Given the description of an element on the screen output the (x, y) to click on. 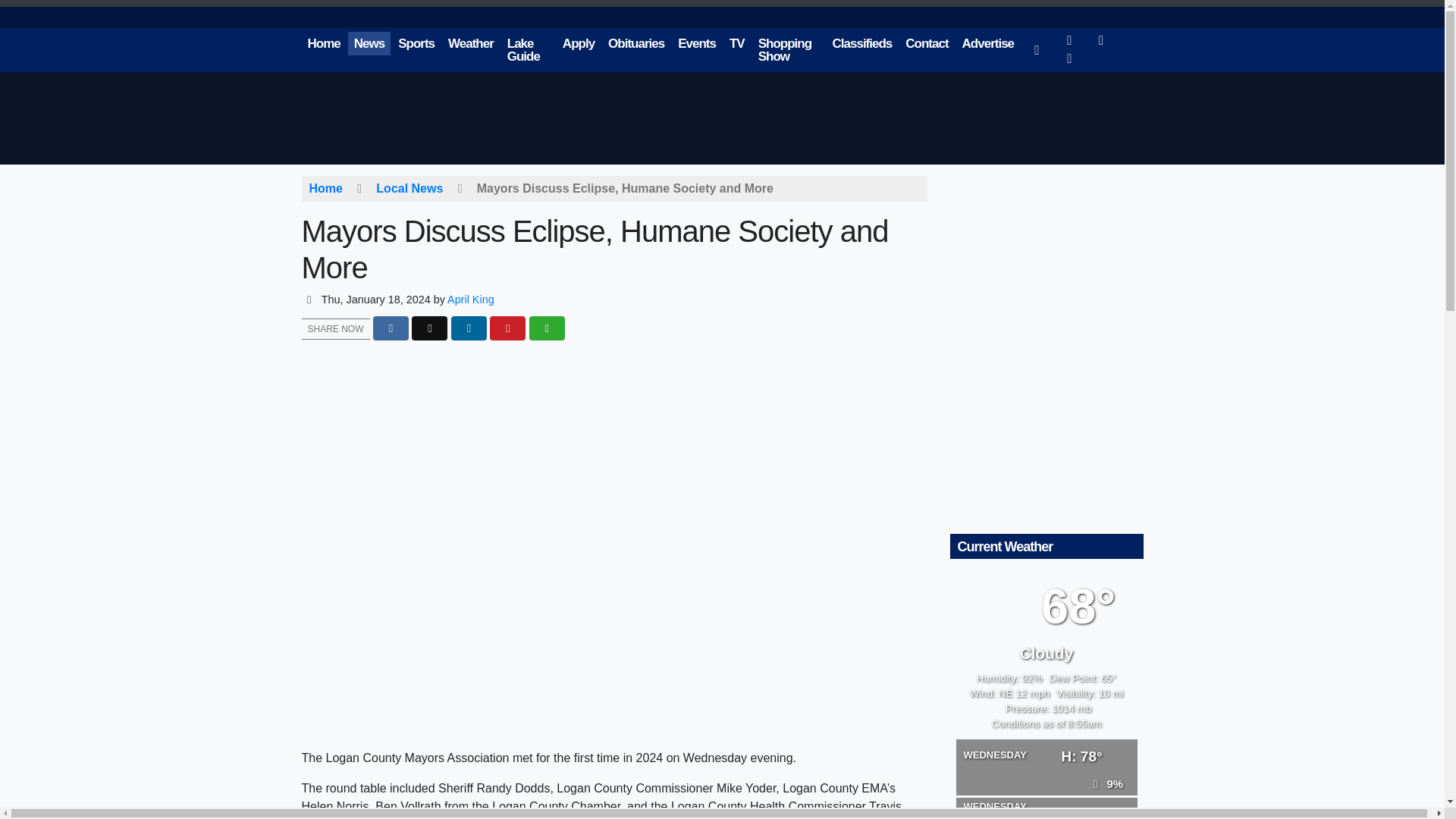
Follow us on Facebook (1070, 40)
